Given the description of an element on the screen output the (x, y) to click on. 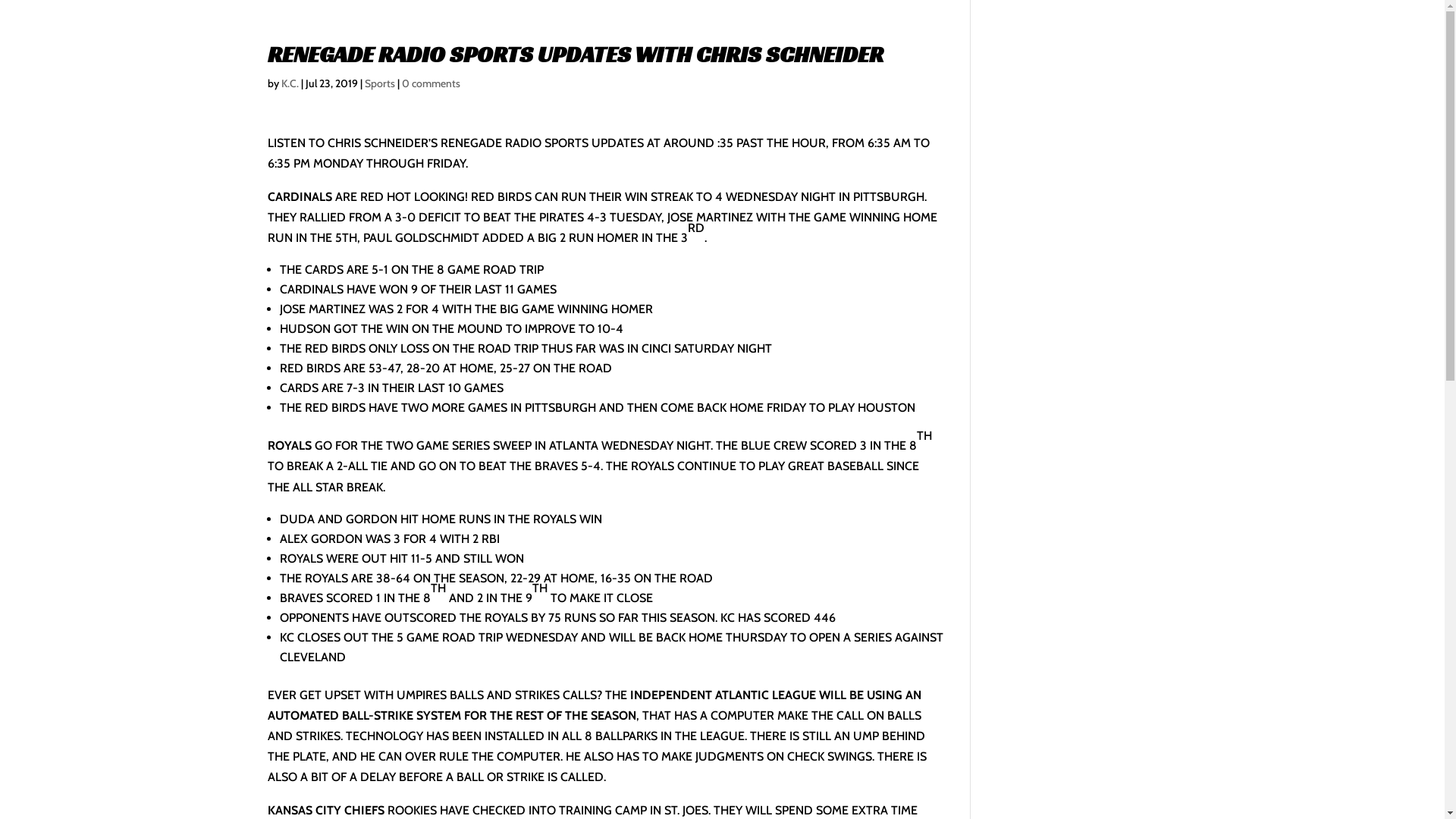
K.C. Element type: text (289, 83)
Sports Element type: text (379, 83)
0 comments Element type: text (430, 83)
